Given the description of an element on the screen output the (x, y) to click on. 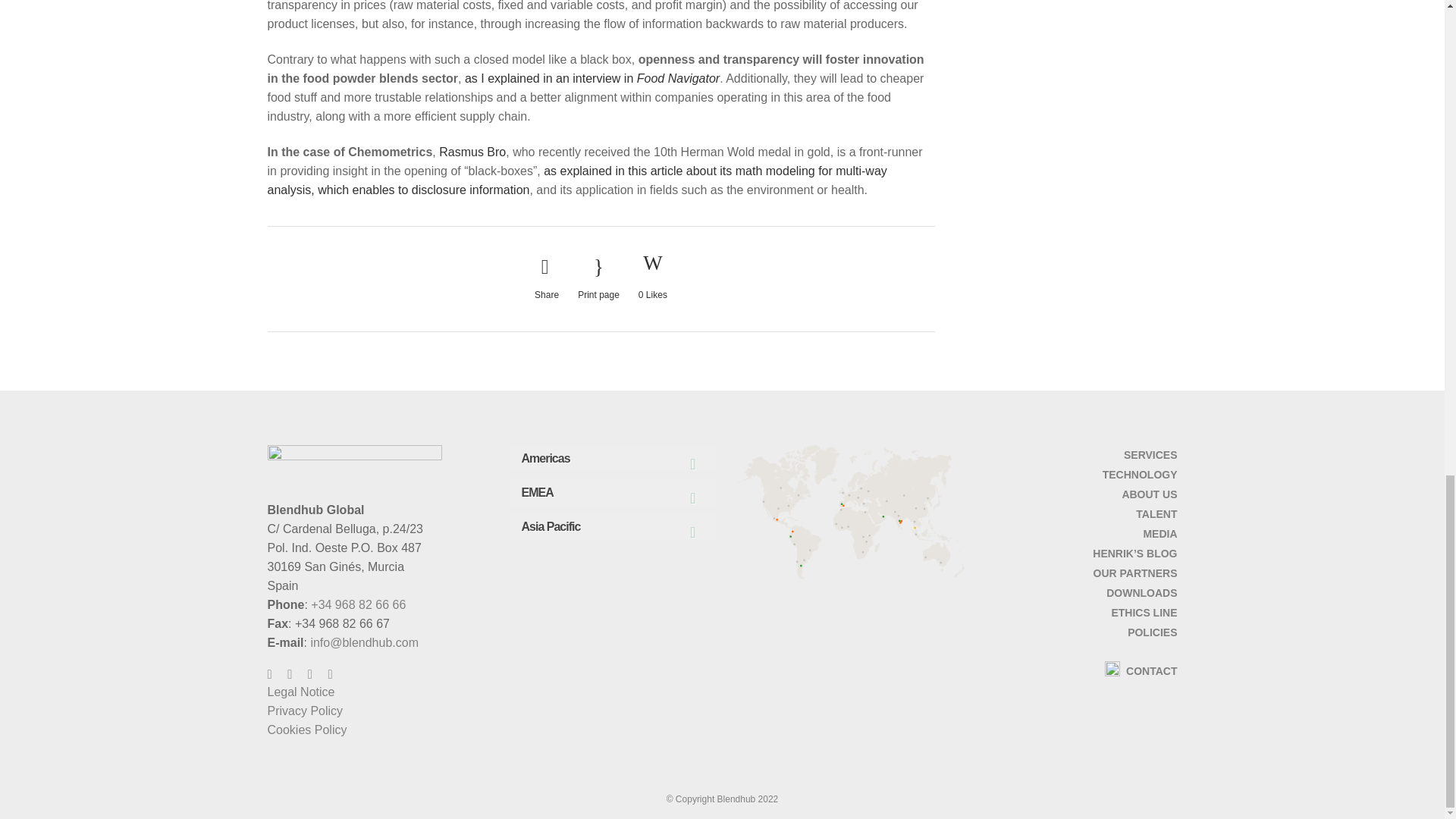
as I explained in an interview in Food Navigator (591, 78)
Rasmus Bro (472, 151)
